Given the description of an element on the screen output the (x, y) to click on. 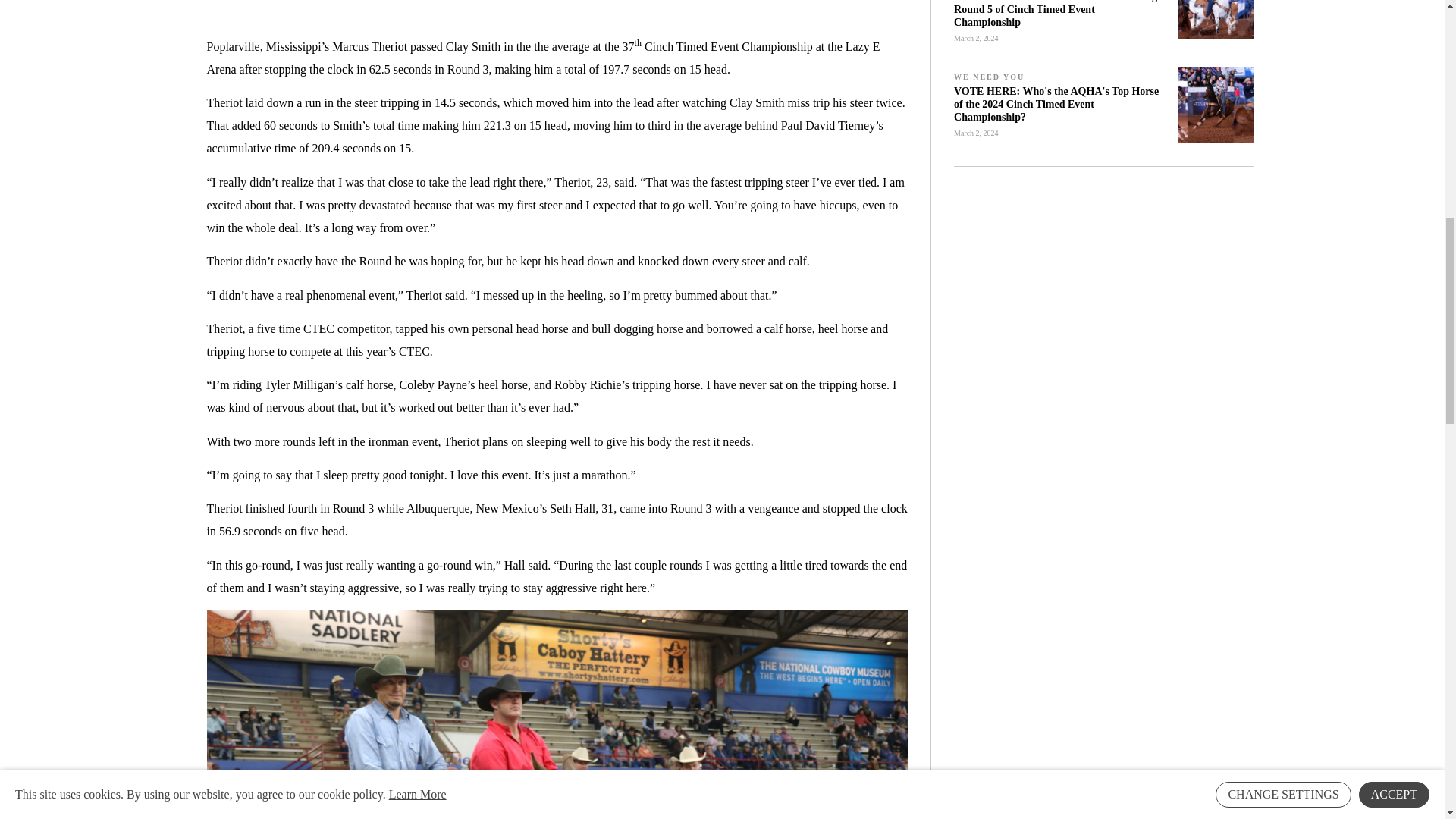
3rd party ad content (1103, 284)
